Given the description of an element on the screen output the (x, y) to click on. 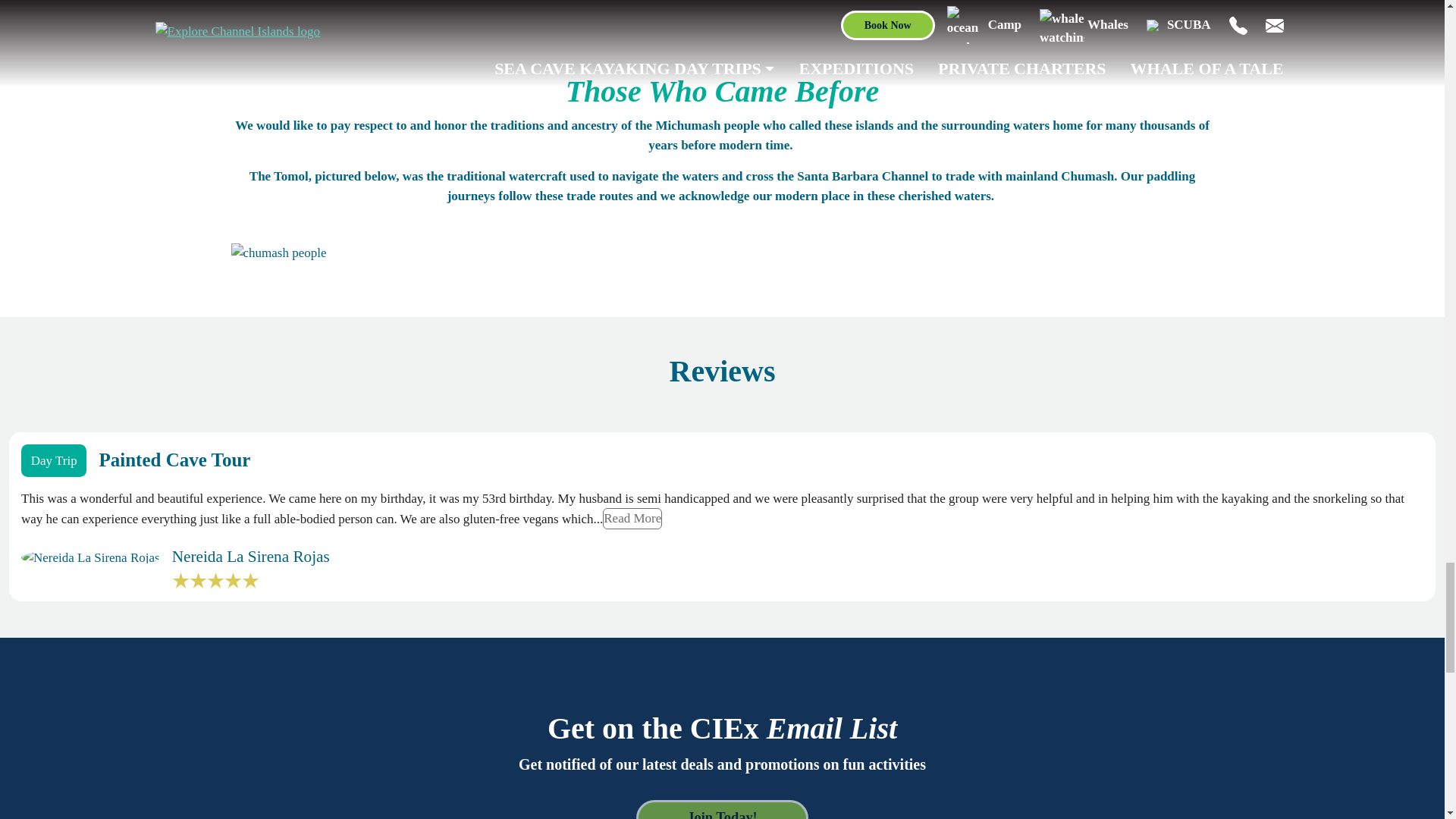
Read More (632, 518)
